Given the description of an element on the screen output the (x, y) to click on. 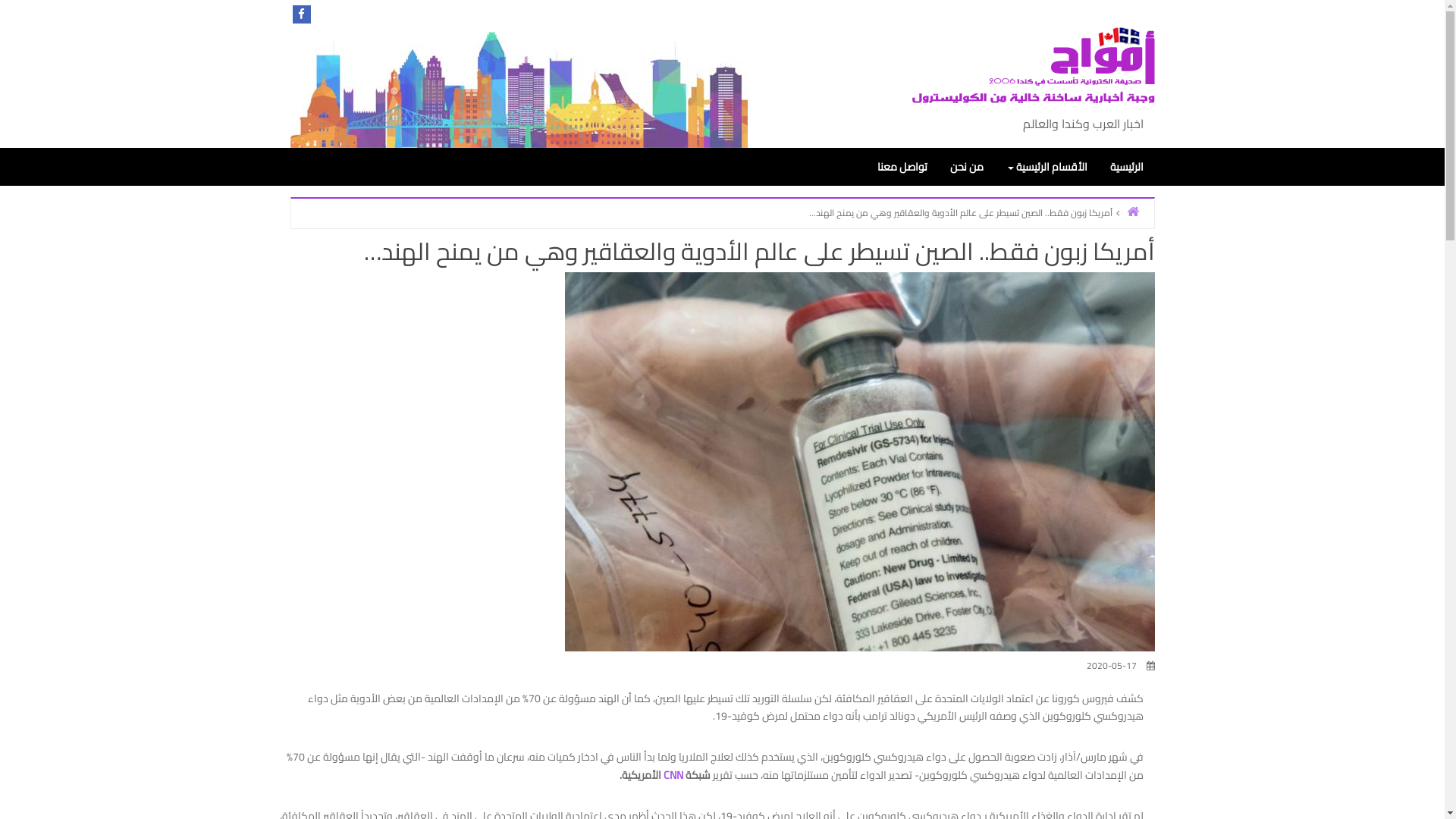
CNN Element type: text (672, 774)
Skip to content Element type: text (1443, 0)
